Given the description of an element on the screen output the (x, y) to click on. 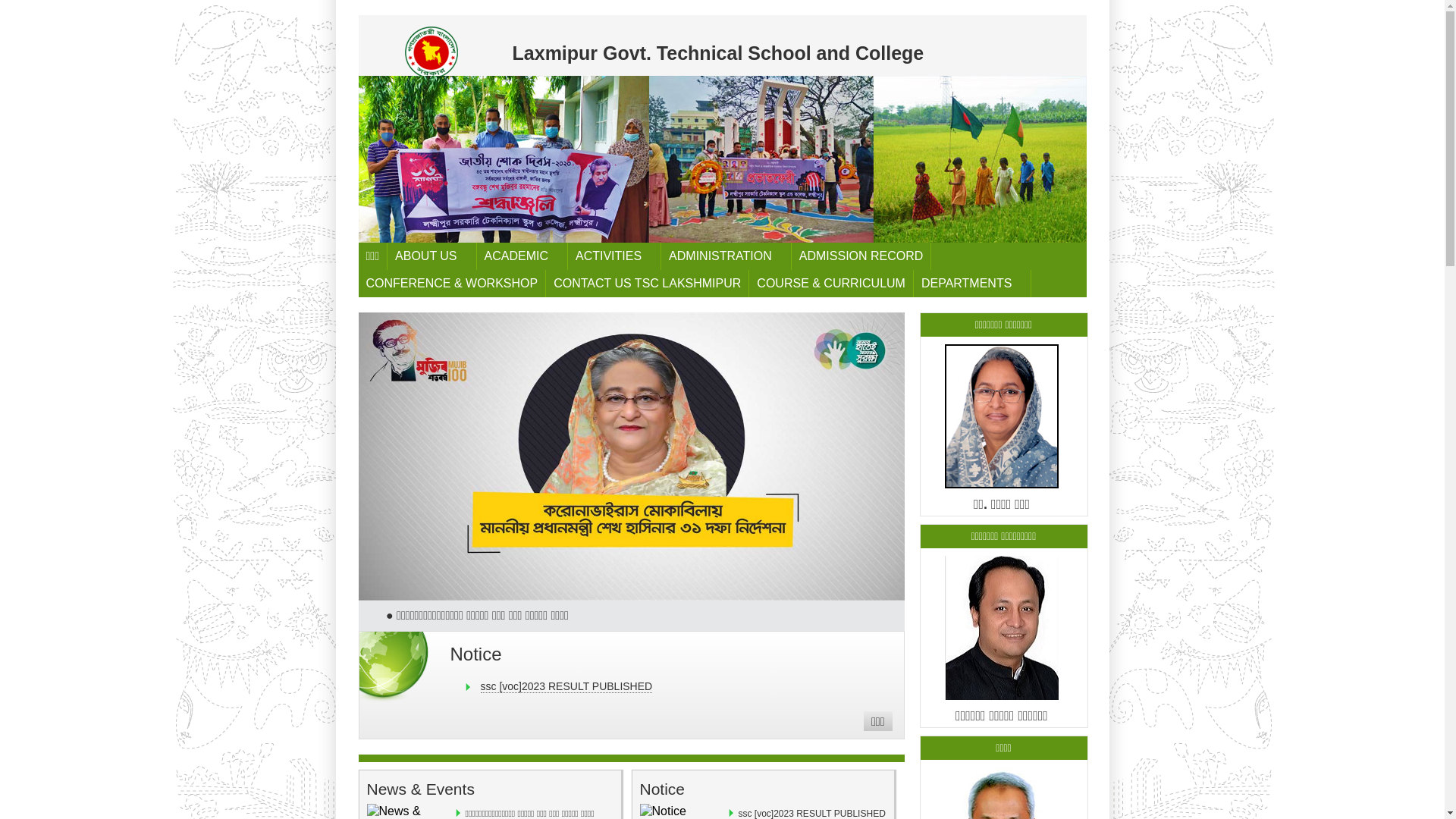
ADMINISTRATION Element type: text (726, 255)
DEPARTMENTS Element type: text (972, 283)
Next Element type: text (1071, 151)
CONFERENCE & WORKSHOP Element type: text (451, 283)
ACADEMIC Element type: text (521, 255)
ABOUT US Element type: text (431, 255)
Previous Element type: text (371, 151)
Notice Element type: text (476, 653)
ssc [voc]2023 RESULT PUBLISHED Element type: text (566, 686)
News & Events Element type: text (420, 788)
Laxmipur Govt. Technical School and College Element type: text (719, 45)
CONTACT US TSC LAKSHMIPUR Element type: text (647, 283)
Notice Element type: text (662, 788)
ACTIVITIES Element type: text (614, 255)
COURSE & CURRICULUM Element type: text (831, 283)
ADMISSION RECORD Element type: text (861, 255)
